Given the description of an element on the screen output the (x, y) to click on. 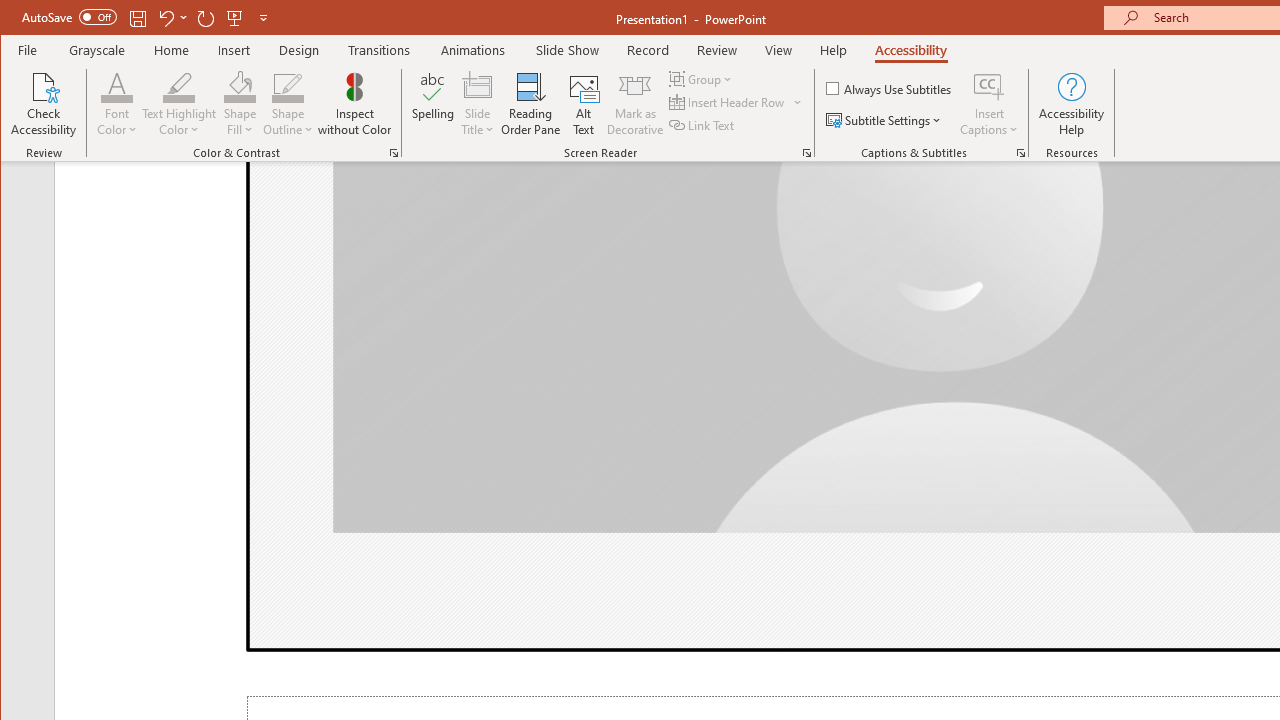
Insert Header Row (735, 101)
Link Text (703, 124)
Group (701, 78)
Insert Captions (989, 104)
Mark as Decorative (635, 104)
